Given the description of an element on the screen output the (x, y) to click on. 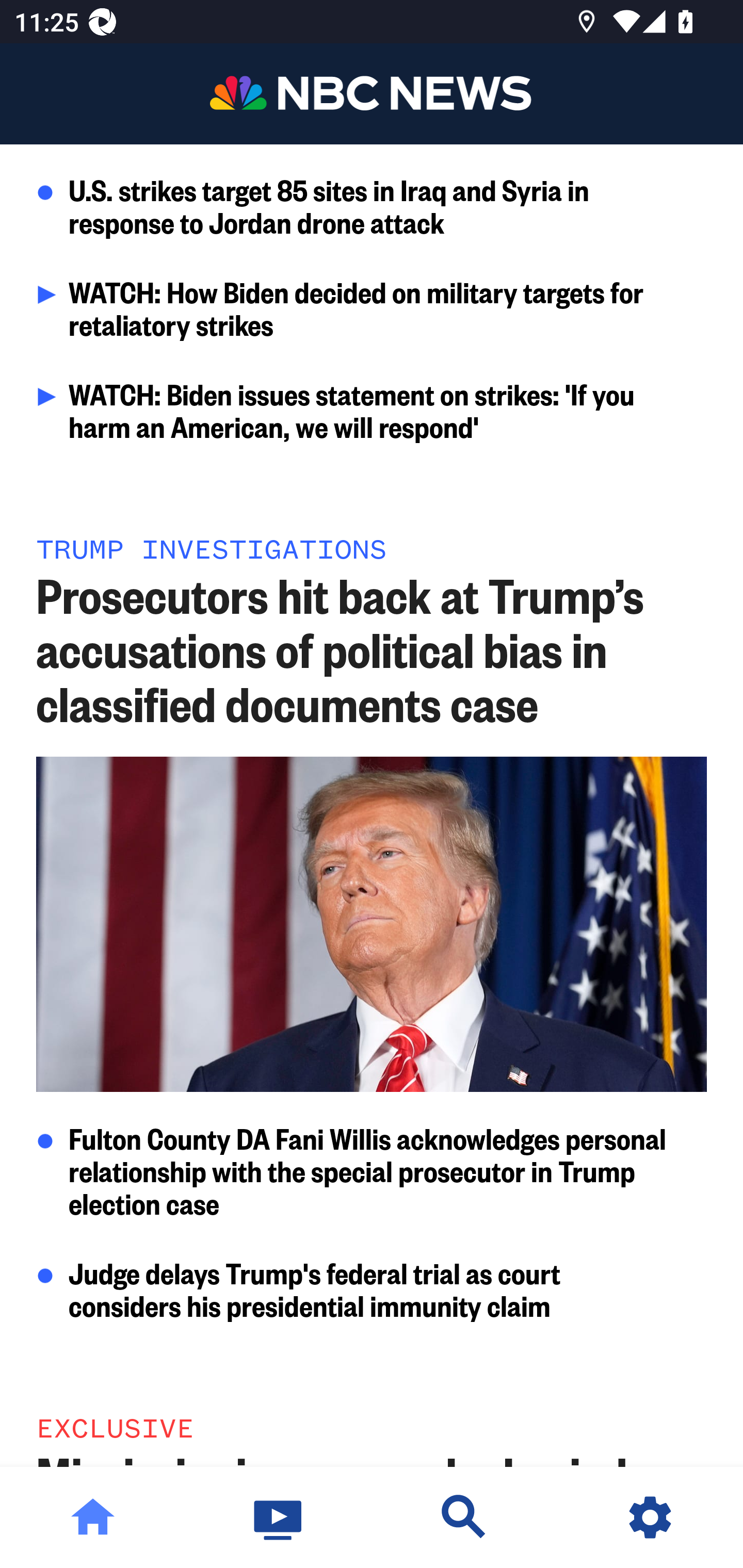
Watch (278, 1517)
Discover (464, 1517)
Settings (650, 1517)
